Given the description of an element on the screen output the (x, y) to click on. 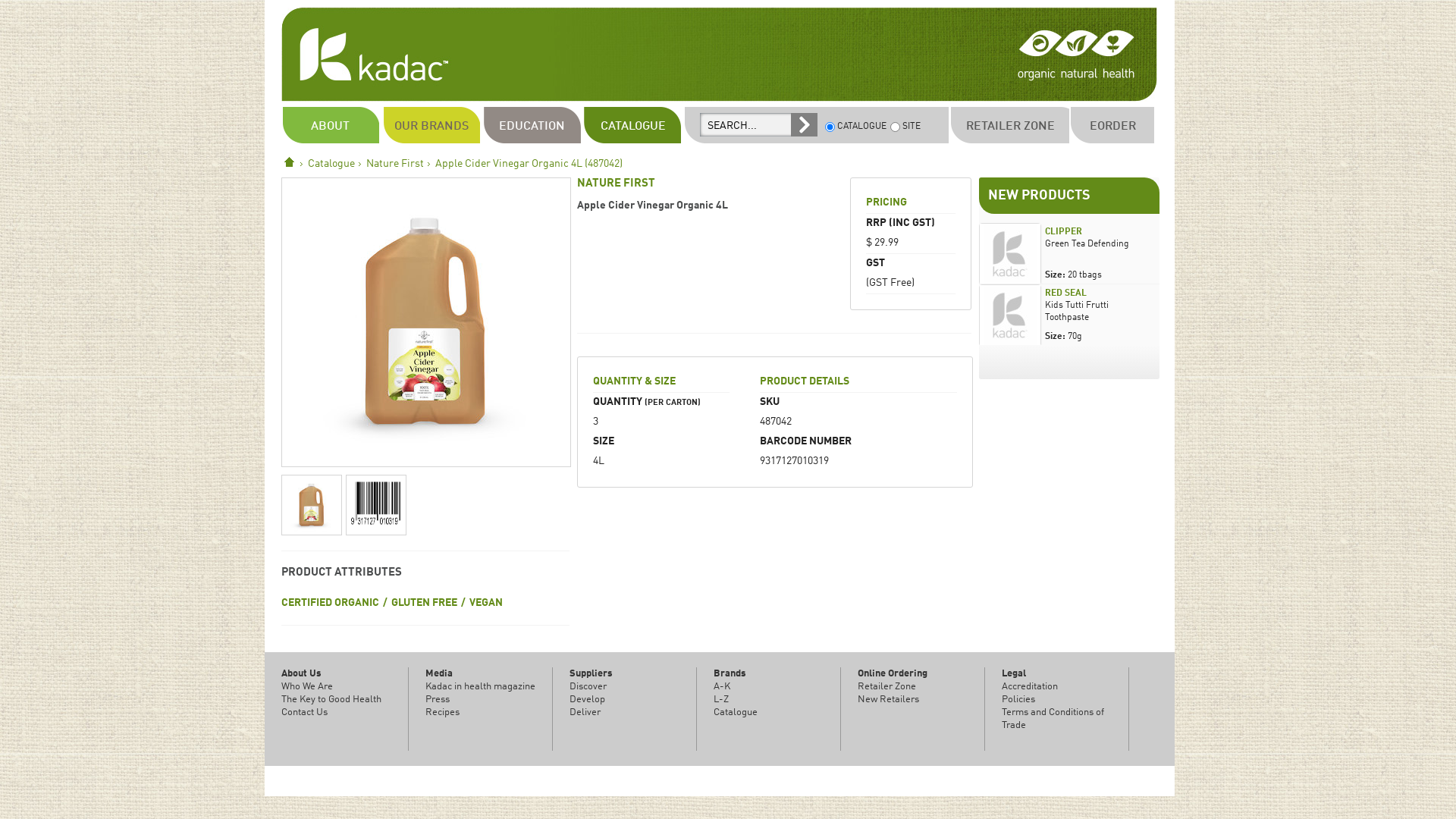
A-K Element type: text (721, 686)
Discover Element type: text (587, 686)
Retailer Zone Element type: text (886, 686)
Kids Tutti Frutti Toothpaste Element type: text (1076, 311)
Kadac in health magazine Element type: text (480, 686)
Catalogue Element type: text (330, 163)
Accreditation Element type: text (1029, 686)
Green Tea Defending Element type: text (1086, 243)
RED SEAL Element type: text (1065, 293)
Who We Are Element type: text (306, 686)
The Key to Good Health Element type: text (331, 699)
New Retailers Element type: text (888, 699)
Contact Us Element type: text (304, 712)
CLIPPER Element type: text (1063, 231)
Terms and Conditions of Trade Element type: text (1052, 718)
L-Z Element type: text (720, 699)
CERTIFIED ORGANIC Element type: text (330, 603)
Nature First Element type: text (394, 163)
VEGAN Element type: text (485, 603)
Develop Element type: text (587, 699)
Policies Element type: text (1018, 699)
Press Element type: text (437, 699)
Catalogue Element type: text (735, 712)
GLUTEN FREE Element type: text (424, 603)
Deliver Element type: text (584, 712)
Recipes Element type: text (442, 712)
